Given the description of an element on the screen output the (x, y) to click on. 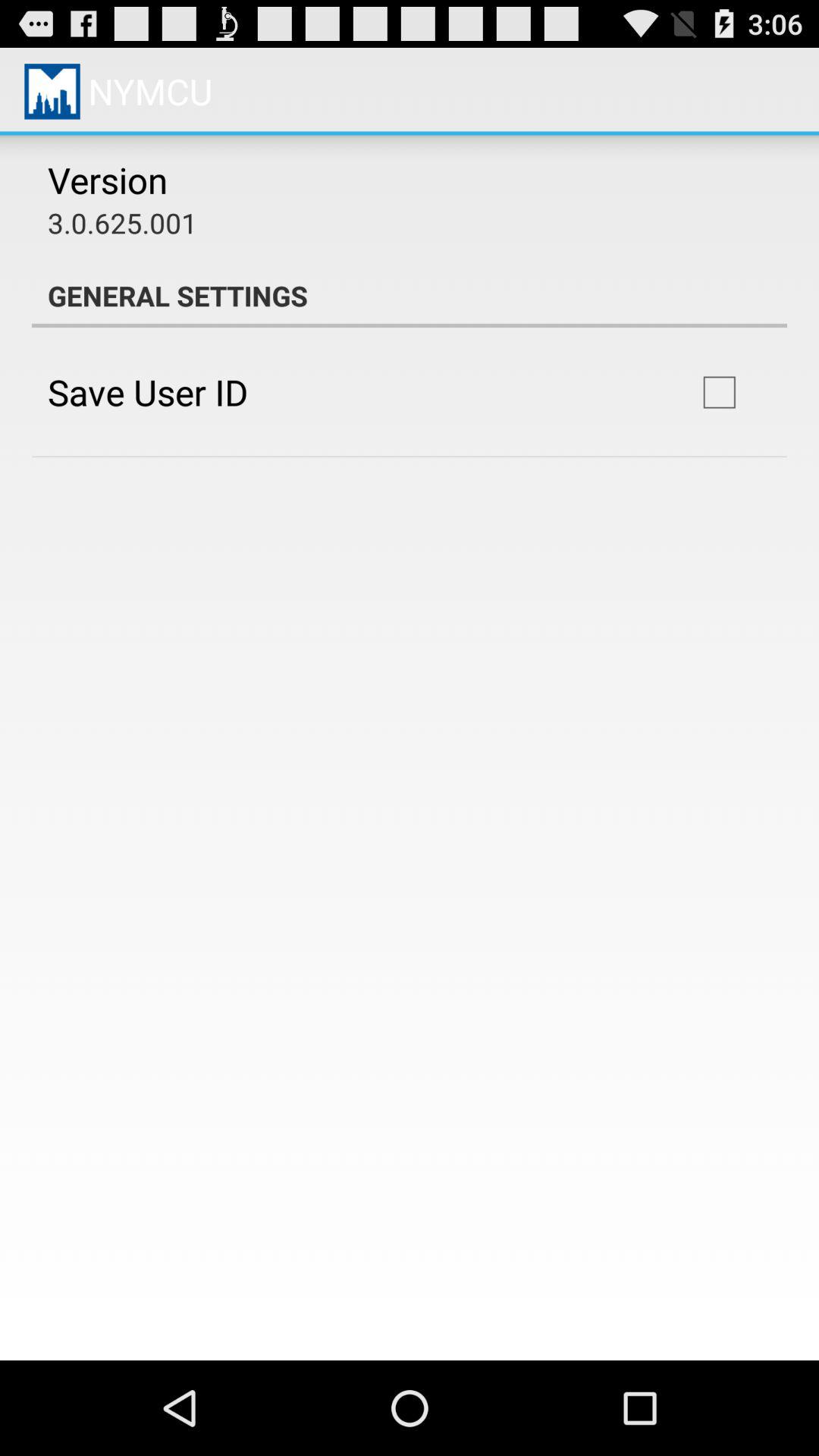
launch icon below general settings item (147, 391)
